Given the description of an element on the screen output the (x, y) to click on. 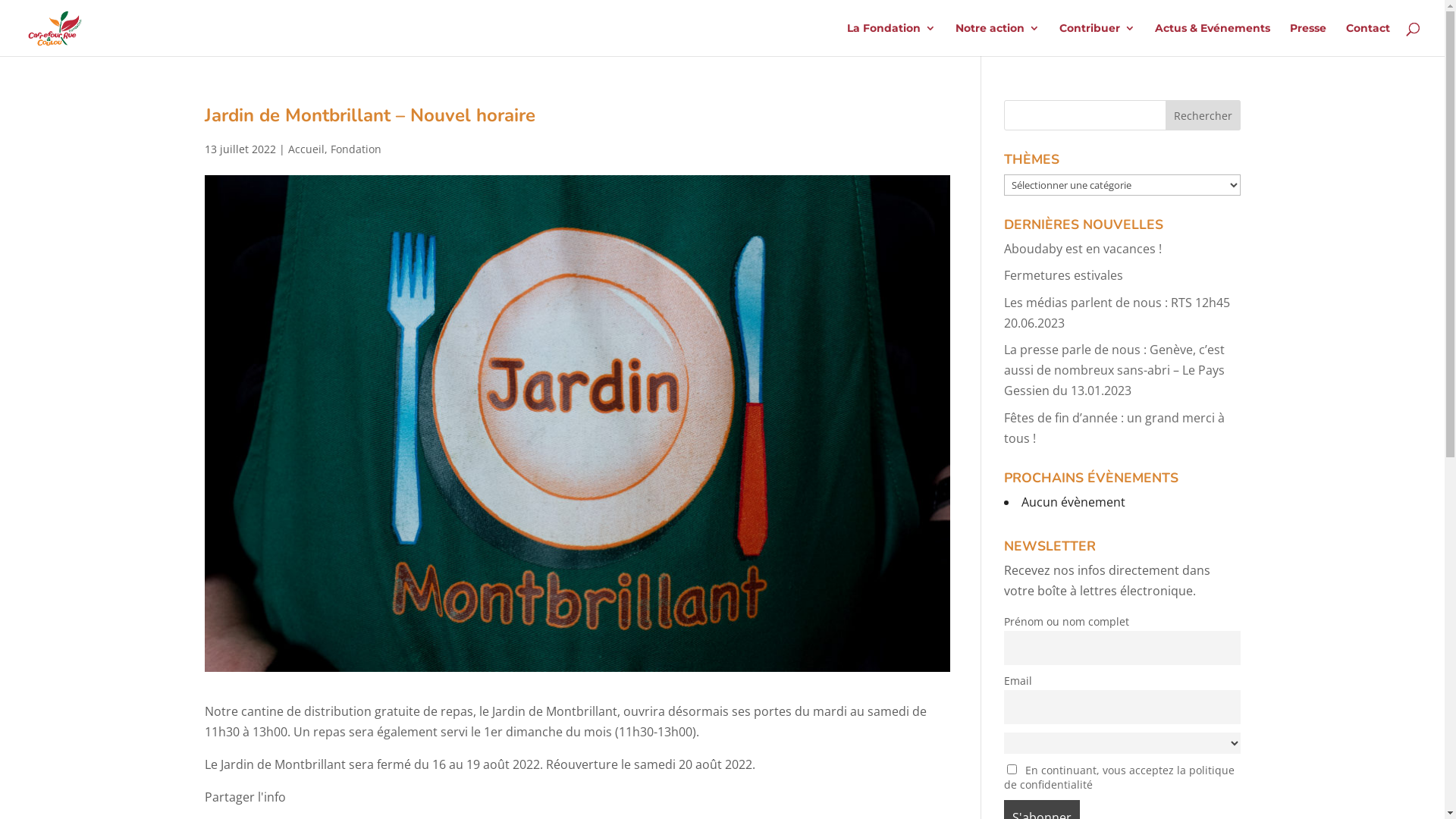
Accueil Element type: text (306, 148)
Notre action Element type: text (997, 39)
Presse Element type: text (1307, 39)
Contact Element type: text (1368, 39)
La Fondation Element type: text (891, 39)
Fondation Element type: text (355, 148)
Contribuer Element type: text (1097, 39)
Aboudaby est en vacances ! Element type: text (1082, 248)
Fermetures estivales Element type: text (1063, 274)
Rechercher Element type: text (1202, 115)
